Given the description of an element on the screen output the (x, y) to click on. 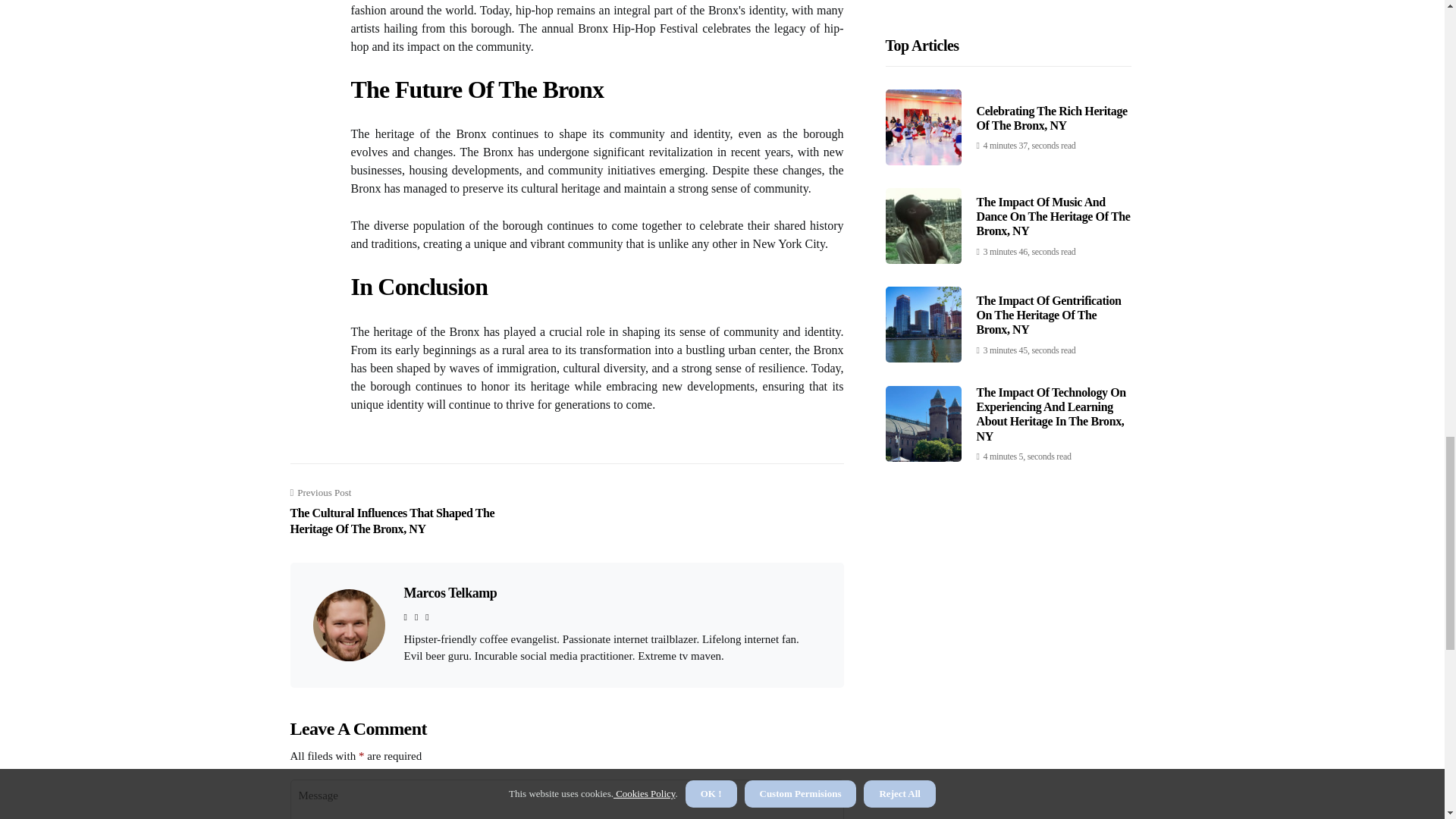
Marcos Telkamp (449, 592)
